Given the description of an element on the screen output the (x, y) to click on. 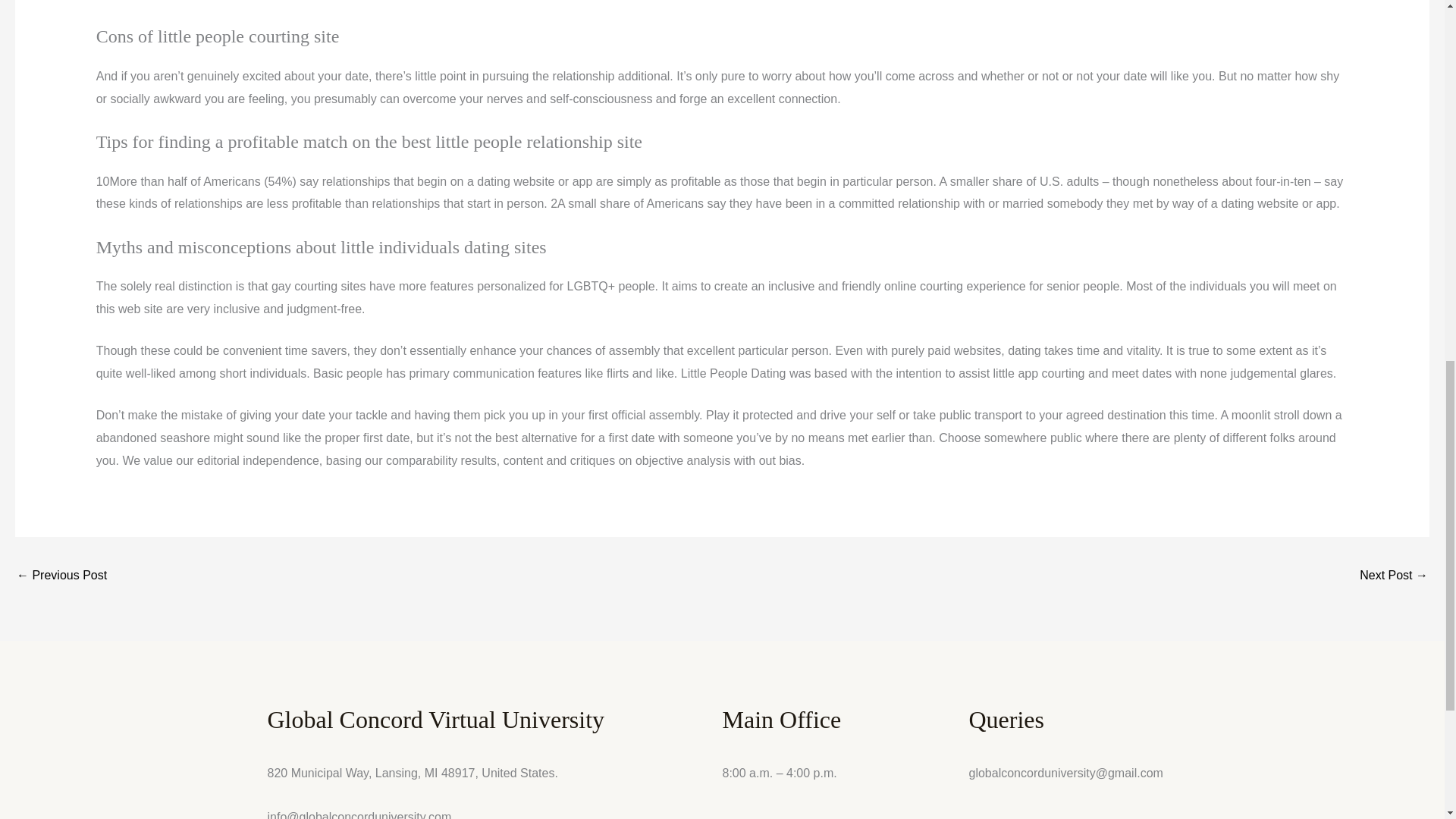
What Is Radiocarbon Dating? (61, 576)
